Given the description of an element on the screen output the (x, y) to click on. 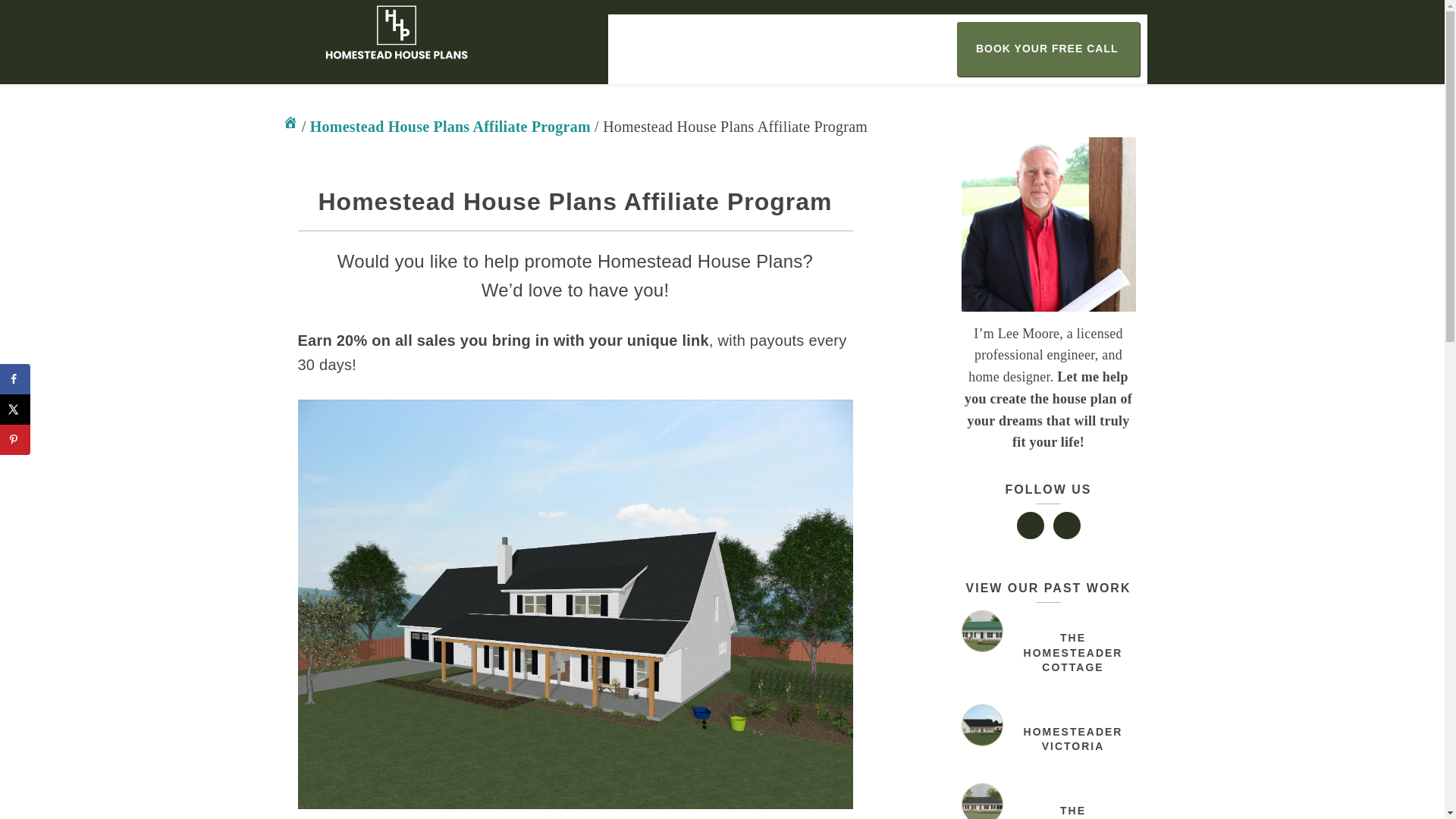
Homestead House Plans (289, 126)
Save to Pinterest (15, 440)
Homestead House Plans Affiliate Program (450, 126)
The Homesteader Cottage II (981, 800)
HOMESTEAD HOUSE PLANS (405, 34)
Share on X (15, 409)
The Homesteader Cottage (981, 630)
Share on Facebook (15, 378)
BROWSE GALLERY OF CUSTOM PLANS (736, 49)
THE HOMESTEADER COTTAGE II (1072, 811)
Homesteader Victoria (981, 725)
THE HOMESTEADER COTTAGE (1072, 652)
ABOUT HHP (904, 49)
BOOK YOUR FREE CALL (1037, 49)
